Given the description of an element on the screen output the (x, y) to click on. 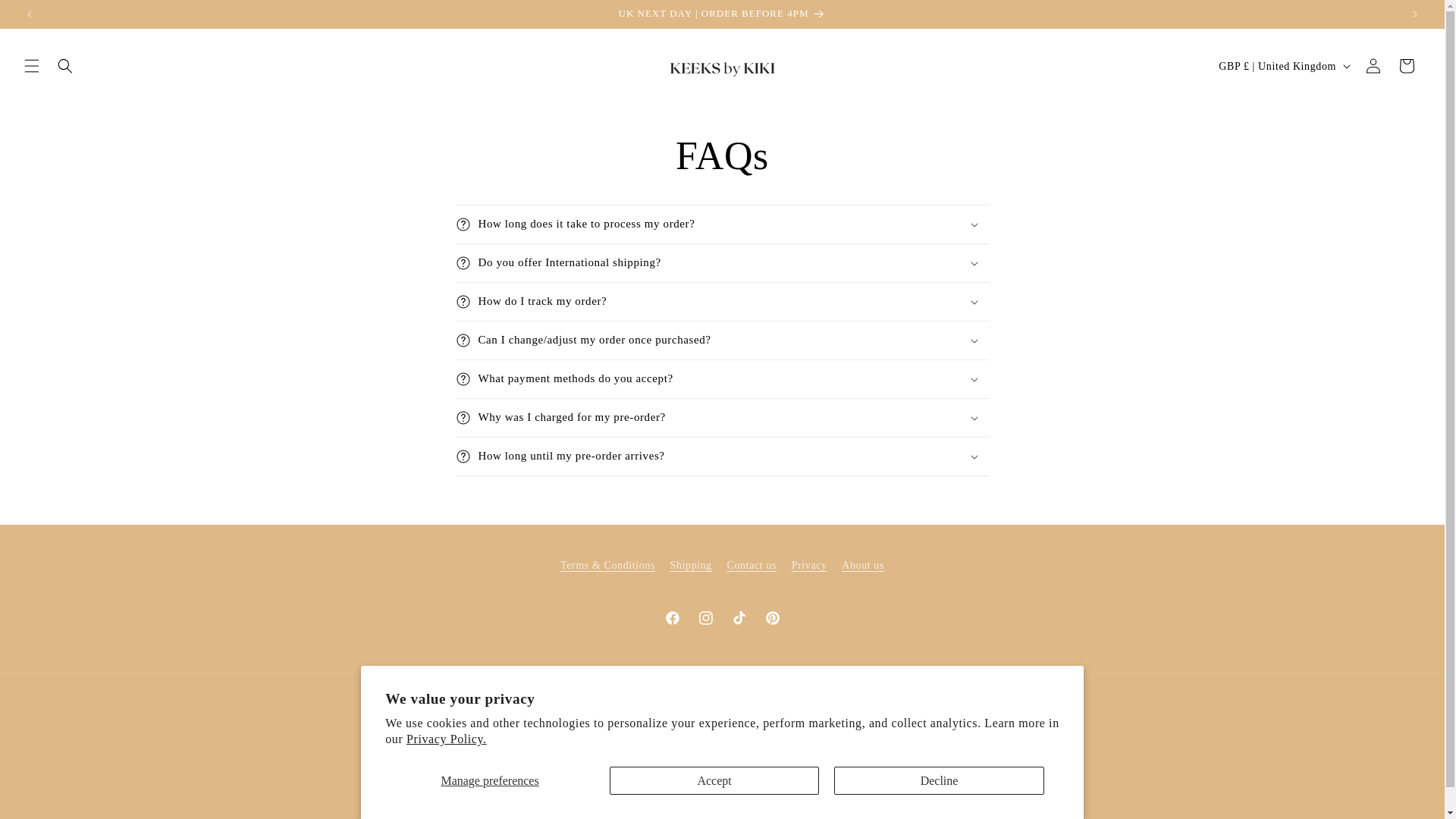
Skip to content (45, 17)
Decline (938, 780)
Shipping (690, 565)
Contact us (751, 565)
Manage preferences (489, 780)
Log in (1373, 65)
Accept (714, 780)
Privacy Policy. (446, 738)
Cart (1406, 65)
